Given the description of an element on the screen output the (x, y) to click on. 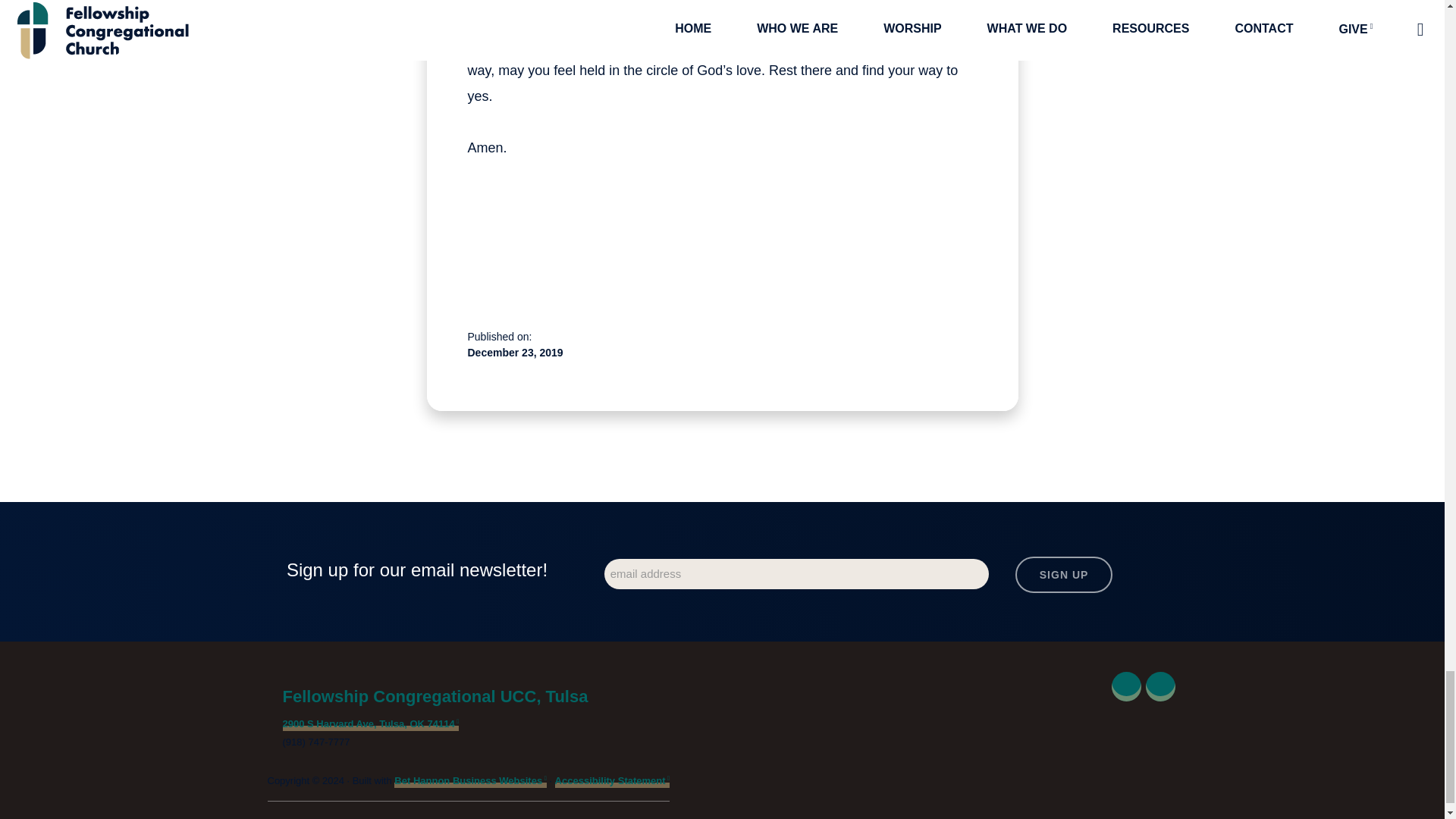
Bet Hannon Business Websites (470, 780)
Accessibility Statement (611, 780)
2900 S Harvard Ave, Tulsa, OK 74114 (370, 724)
